Given the description of an element on the screen output the (x, y) to click on. 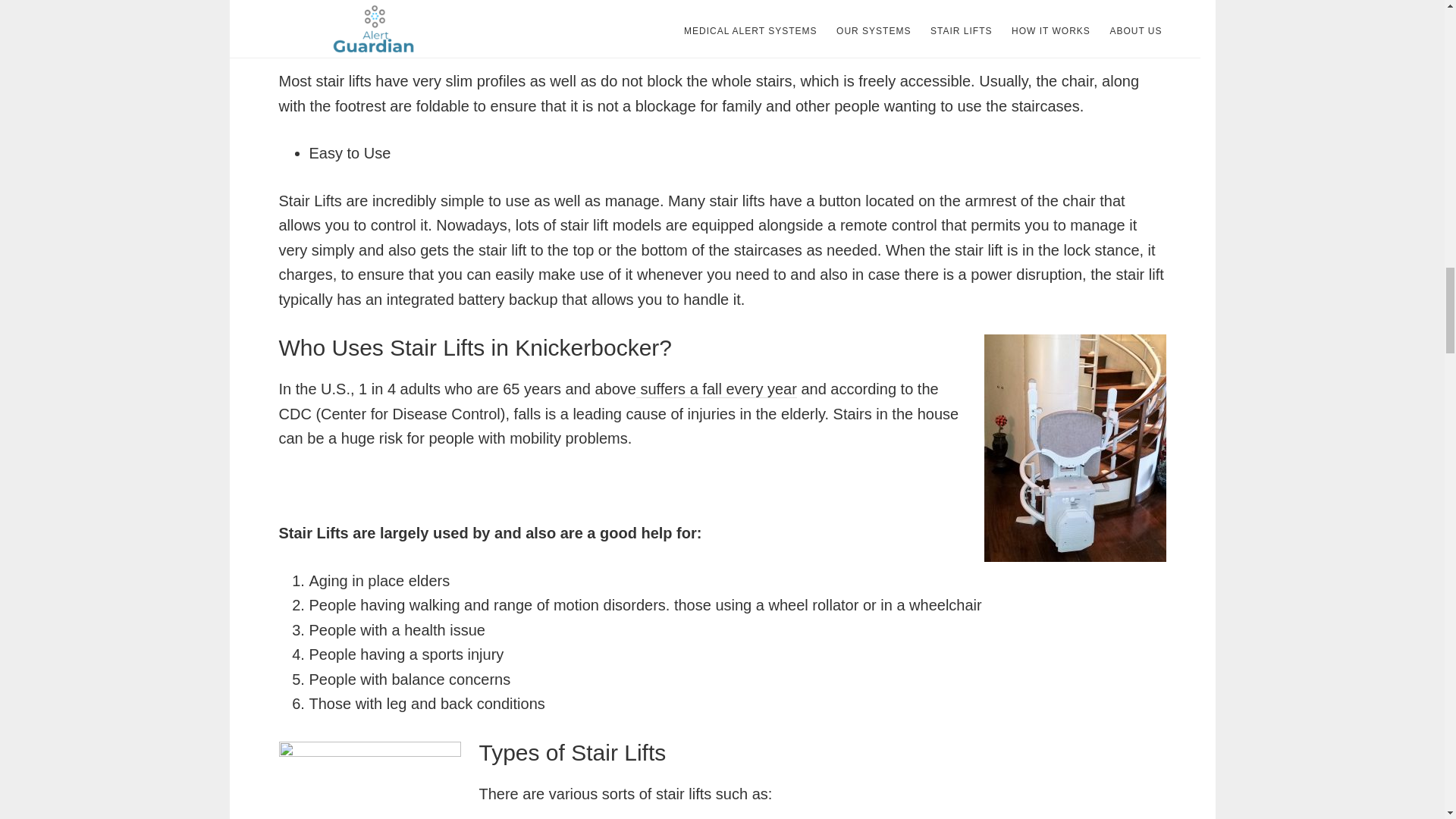
suffers a fall every year (716, 389)
